Given the description of an element on the screen output the (x, y) to click on. 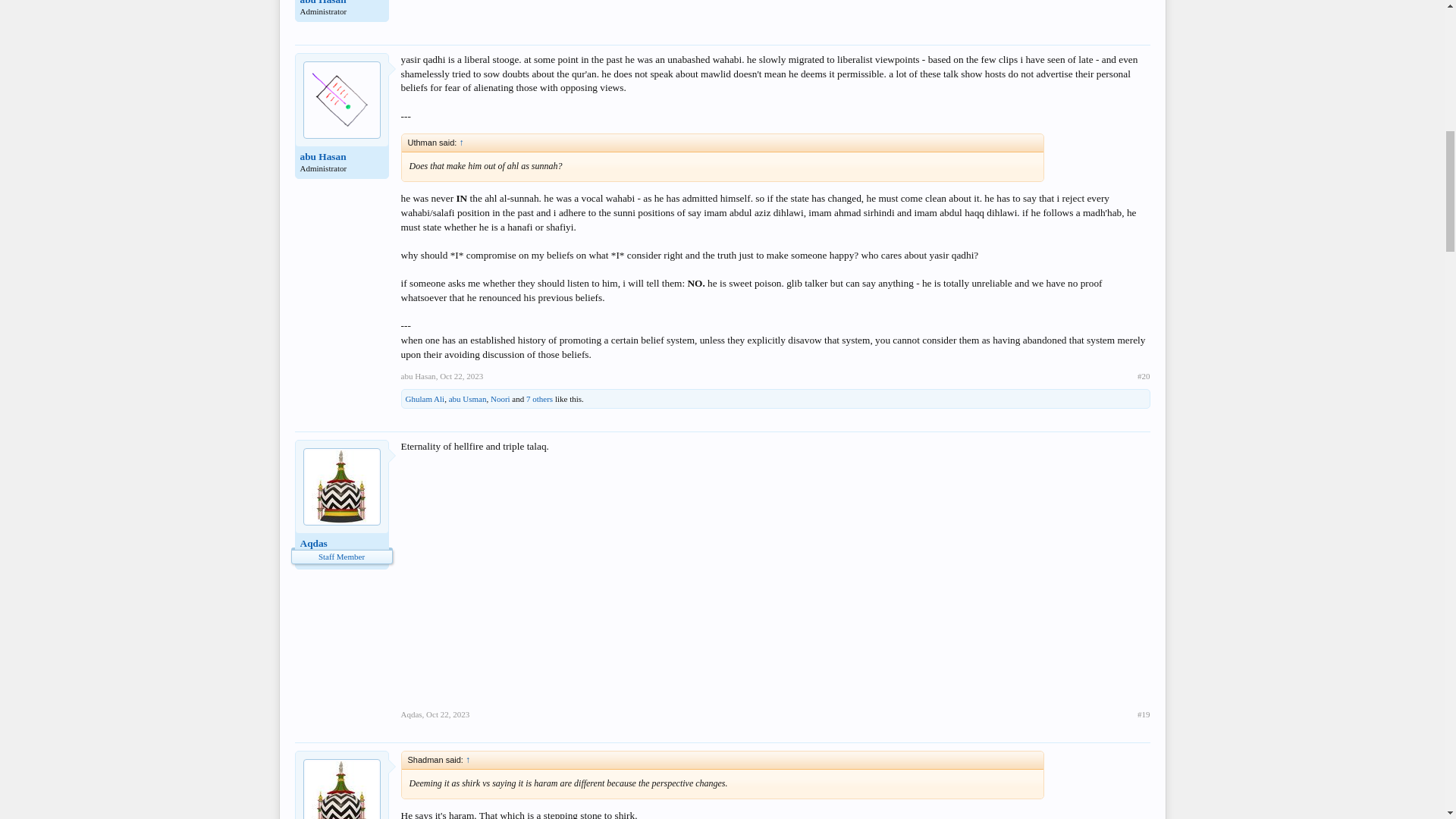
Permalink (447, 714)
Permalink (1143, 714)
Permalink (461, 375)
Permalink (1143, 376)
